Given the description of an element on the screen output the (x, y) to click on. 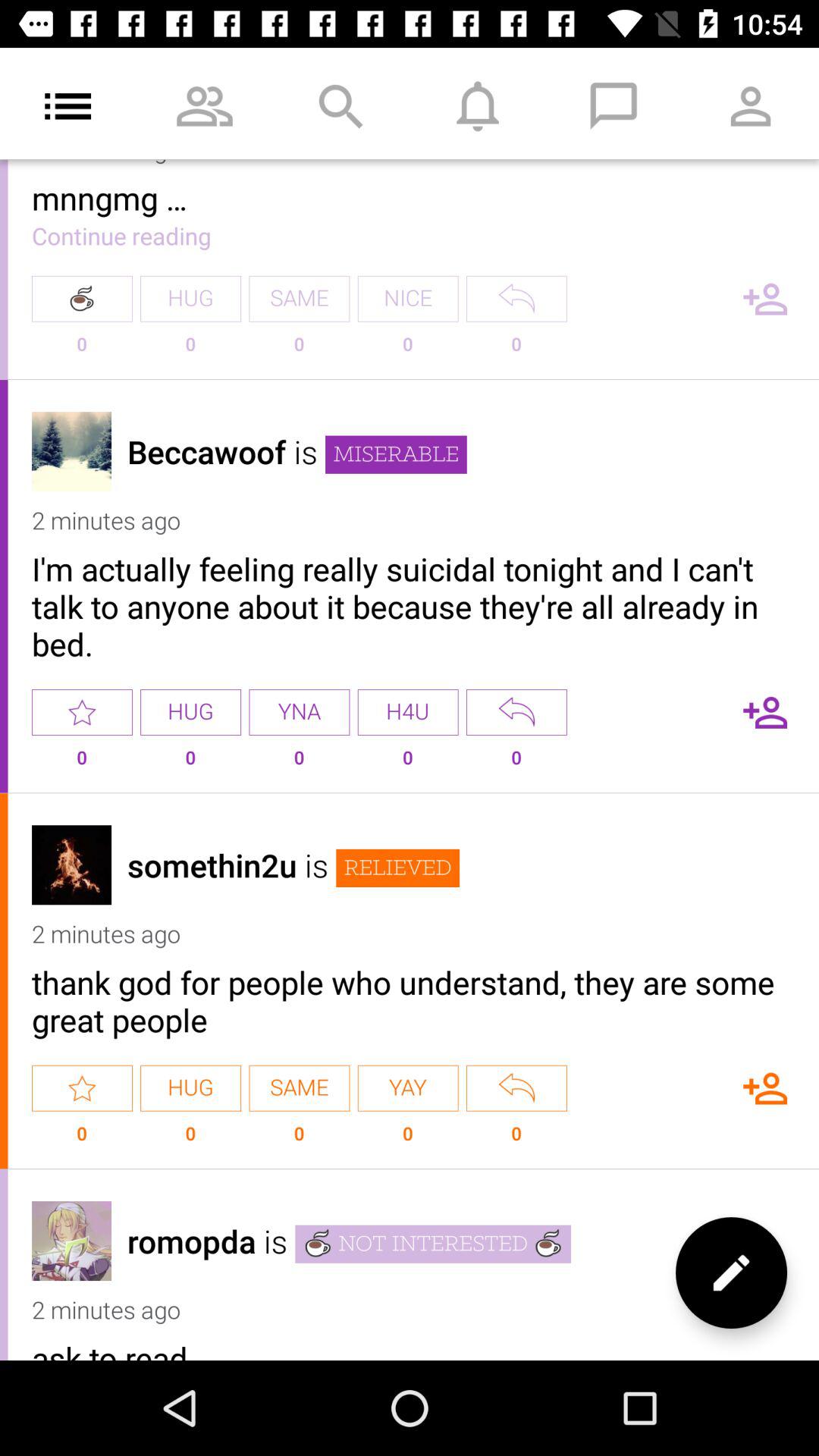
follow this person (765, 712)
